Given the description of an element on the screen output the (x, y) to click on. 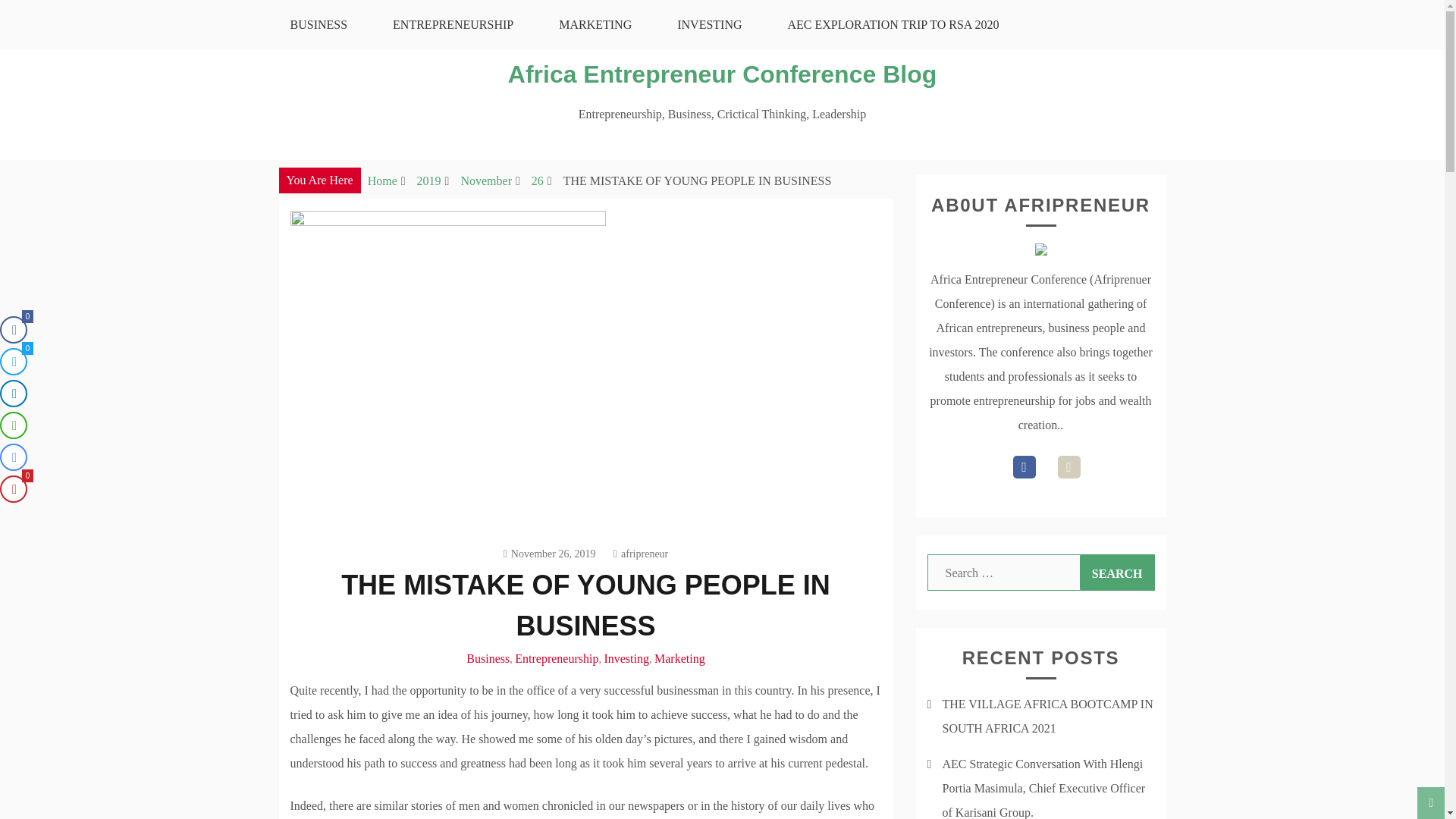
November 26, 2019 (549, 553)
Search (1117, 572)
AEC EXPLORATION TRIP TO RSA 2020 (892, 24)
2019 (428, 180)
Home (382, 180)
Search (1117, 572)
Search (1117, 572)
facebook (1024, 466)
Marketing (678, 658)
